Given the description of an element on the screen output the (x, y) to click on. 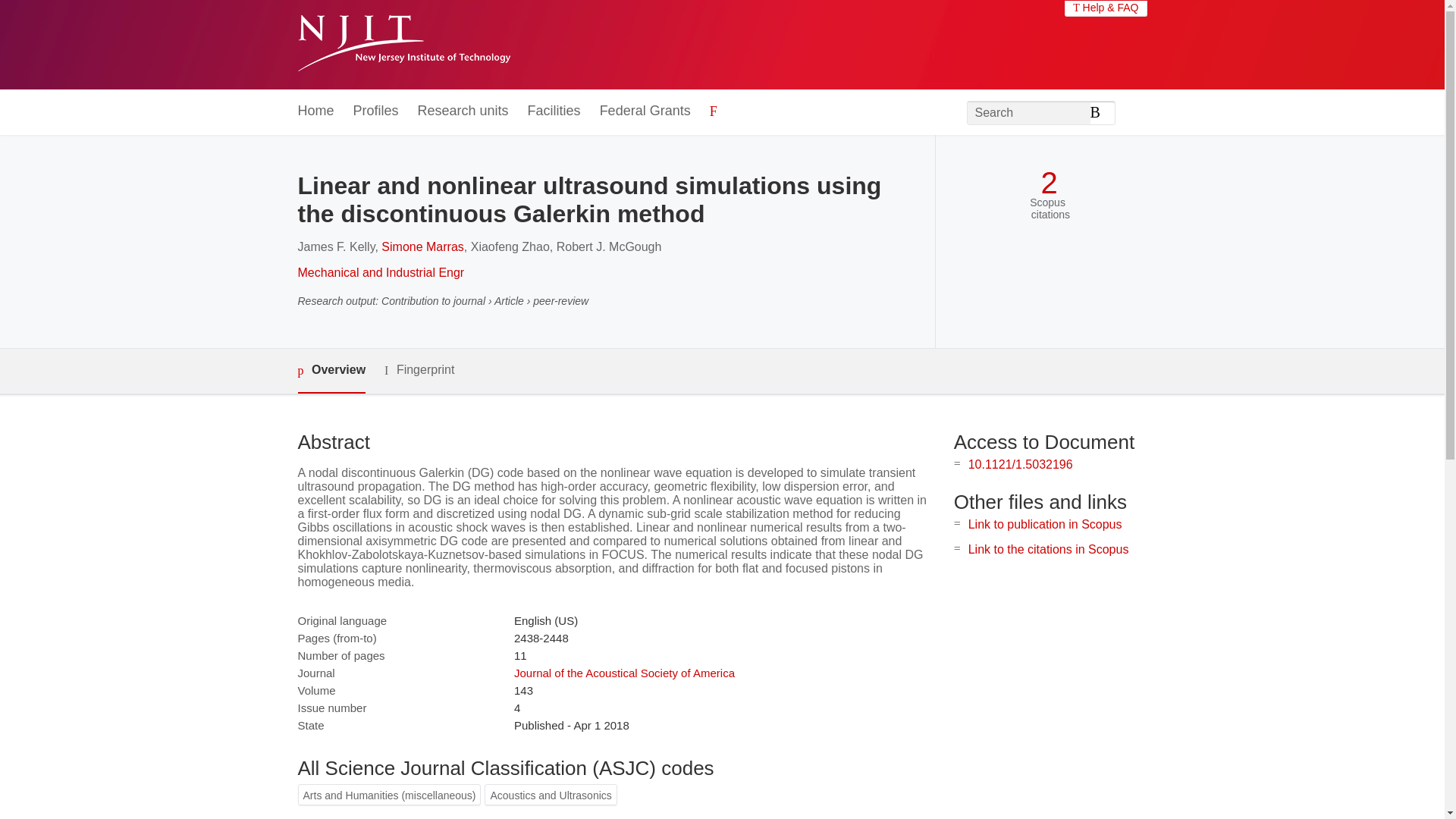
Fingerprint (419, 370)
Simone Marras (422, 246)
Mechanical and Industrial Engr (380, 272)
Overview (331, 370)
Facilities (553, 111)
Federal Grants (644, 111)
Link to the citations in Scopus (1048, 549)
Profiles (375, 111)
Research units (462, 111)
New Jersey Institute of Technology Home (403, 44)
Link to publication in Scopus (1045, 523)
Journal of the Acoustical Society of America (624, 672)
